Given the description of an element on the screen output the (x, y) to click on. 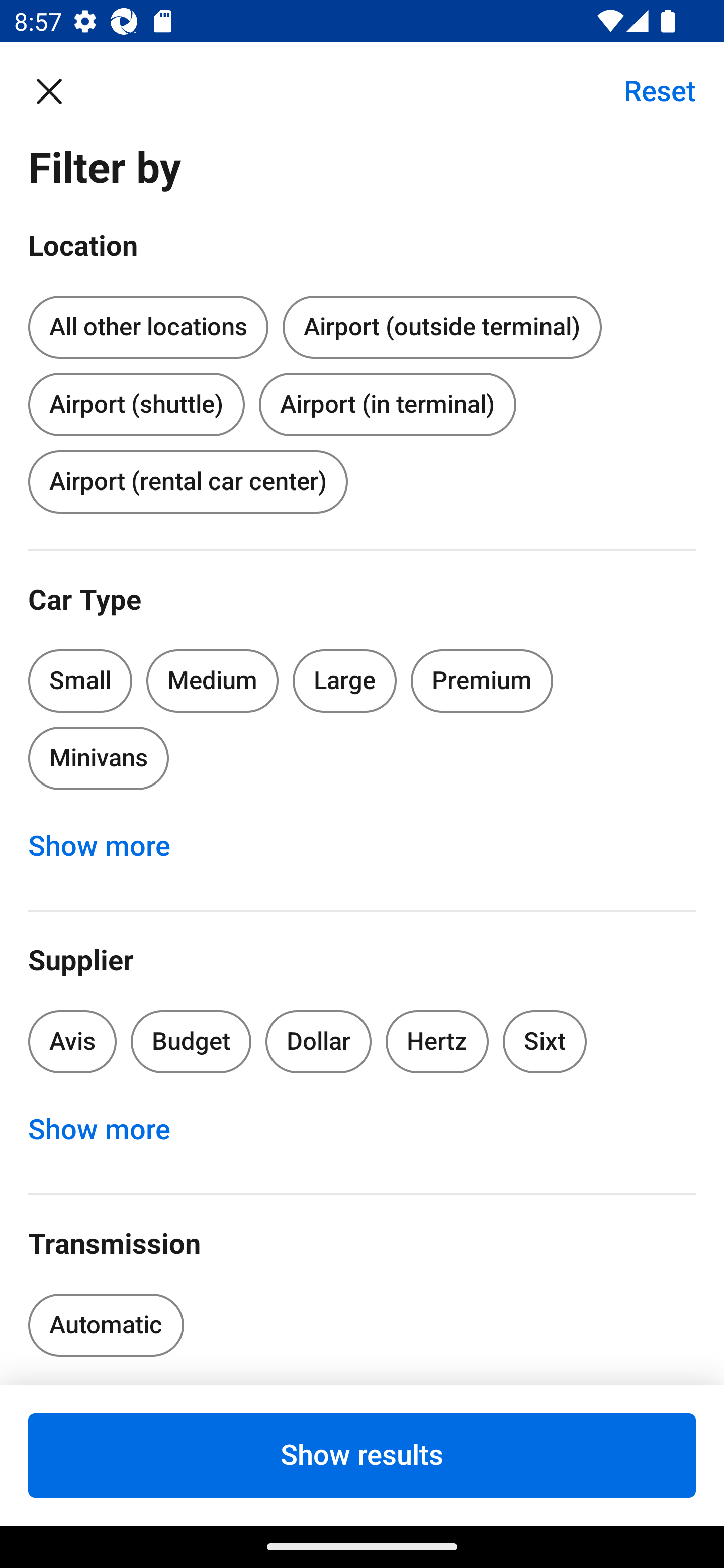
Close (59, 90)
Reset (649, 90)
All other locations (148, 327)
Airport (outside terminal) (441, 327)
Airport (shuttle) (136, 400)
Airport (in terminal) (387, 404)
Airport (rental car center) (187, 481)
Small (80, 680)
Medium (212, 680)
Large (344, 680)
Premium (482, 680)
Minivans (98, 758)
Show more (109, 846)
Avis (72, 1041)
Budget (191, 1041)
Dollar (318, 1041)
Hertz (437, 1041)
Sixt (544, 1041)
Show more (109, 1129)
Automatic (105, 1324)
Show results (361, 1454)
